Given the description of an element on the screen output the (x, y) to click on. 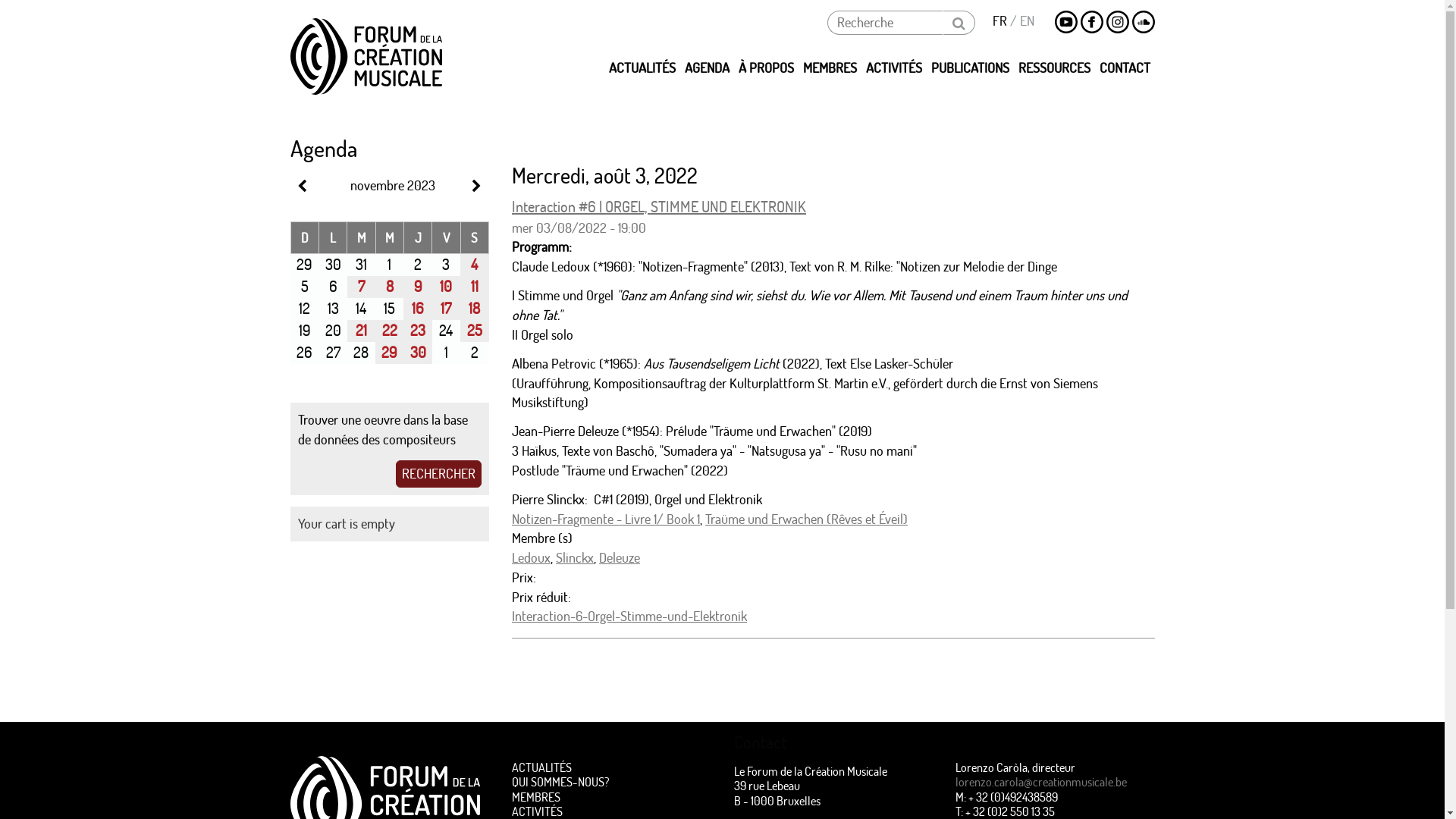
4 Element type: text (473, 263)
Interaction-6-Orgel-Stimme-und-Elektronik Element type: text (628, 615)
AGENDA Element type: text (706, 65)
Accueil Element type: hover (365, 56)
FR Element type: text (998, 20)
7 Element type: text (360, 285)
SoundCloud Element type: hover (1142, 22)
Slinckx Element type: text (574, 557)
Interaction #6 | ORGEL, STIMME UND ELEKTRONIK Element type: text (658, 206)
  Element type: text (475, 186)
Instagram Element type: hover (1116, 22)
Youtube Element type: hover (1065, 22)
Facebook Element type: hover (1090, 22)
23 Element type: text (417, 329)
PUBLICATIONS Element type: text (969, 65)
8 Element type: text (389, 285)
Deleuze Element type: text (619, 557)
CONTACT Element type: text (1124, 65)
30 Element type: text (418, 351)
Ledoux Element type: text (530, 557)
Aller au contenu principal Element type: text (0, 0)
10 Element type: text (445, 285)
Recherche Element type: text (959, 22)
RESSOURCES Element type: text (1053, 65)
EN Element type: text (1026, 20)
MEMBRES Element type: text (828, 65)
29 Element type: text (389, 351)
9 Element type: text (418, 285)
QUI SOMMES-NOUS? Element type: text (611, 781)
Notizen-Fragmente - Livre 1/ Book 1 Element type: text (605, 518)
21 Element type: text (361, 329)
  Element type: text (306, 186)
25 Element type: text (474, 329)
11 Element type: text (474, 285)
22 Element type: text (389, 329)
MEMBRES Element type: text (611, 796)
17 Element type: text (445, 307)
RECHERCHER Element type: text (438, 473)
16 Element type: text (417, 307)
18 Element type: text (474, 307)
lorenzo.carola@creationmusicale.be Element type: text (1040, 781)
